Given the description of an element on the screen output the (x, y) to click on. 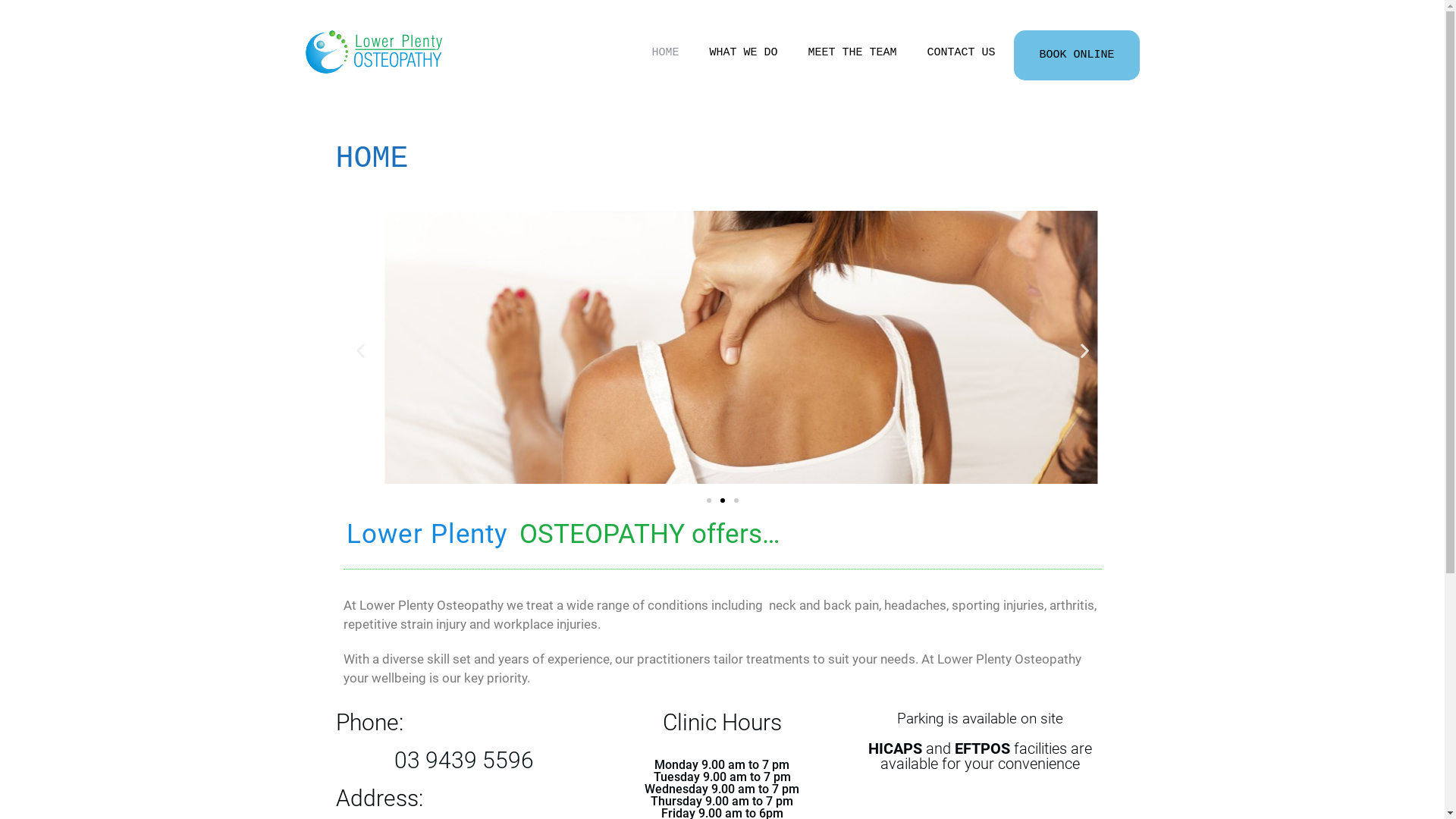
WHAT WE DO Element type: text (742, 52)
MEET THE TEAM Element type: text (851, 52)
CONTACT US Element type: text (960, 52)
Lower Plenty Osteopathy Element type: hover (372, 51)
HOME Element type: text (664, 52)
BOOK ONLINE Element type: text (1076, 55)
Lower Plenty Osteopathy Element type: hover (372, 51)
